Given the description of an element on the screen output the (x, y) to click on. 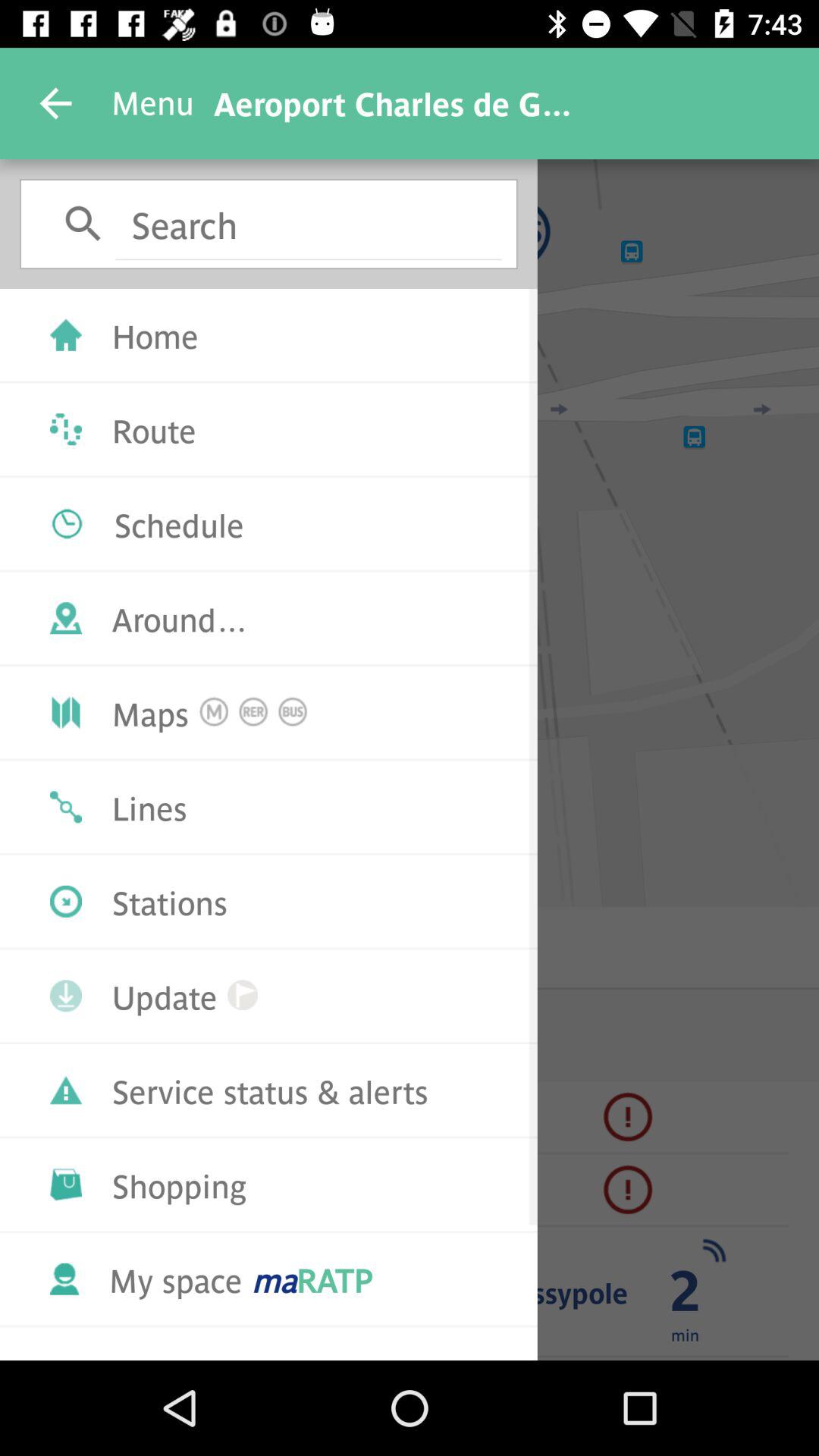
select the circle icon with rer text (253, 711)
click on the box which has the text search (308, 223)
select the symbol which is to the immediate right of update (242, 994)
click on the icon which is left hand side of the text shopping (65, 1184)
